Given the description of an element on the screen output the (x, y) to click on. 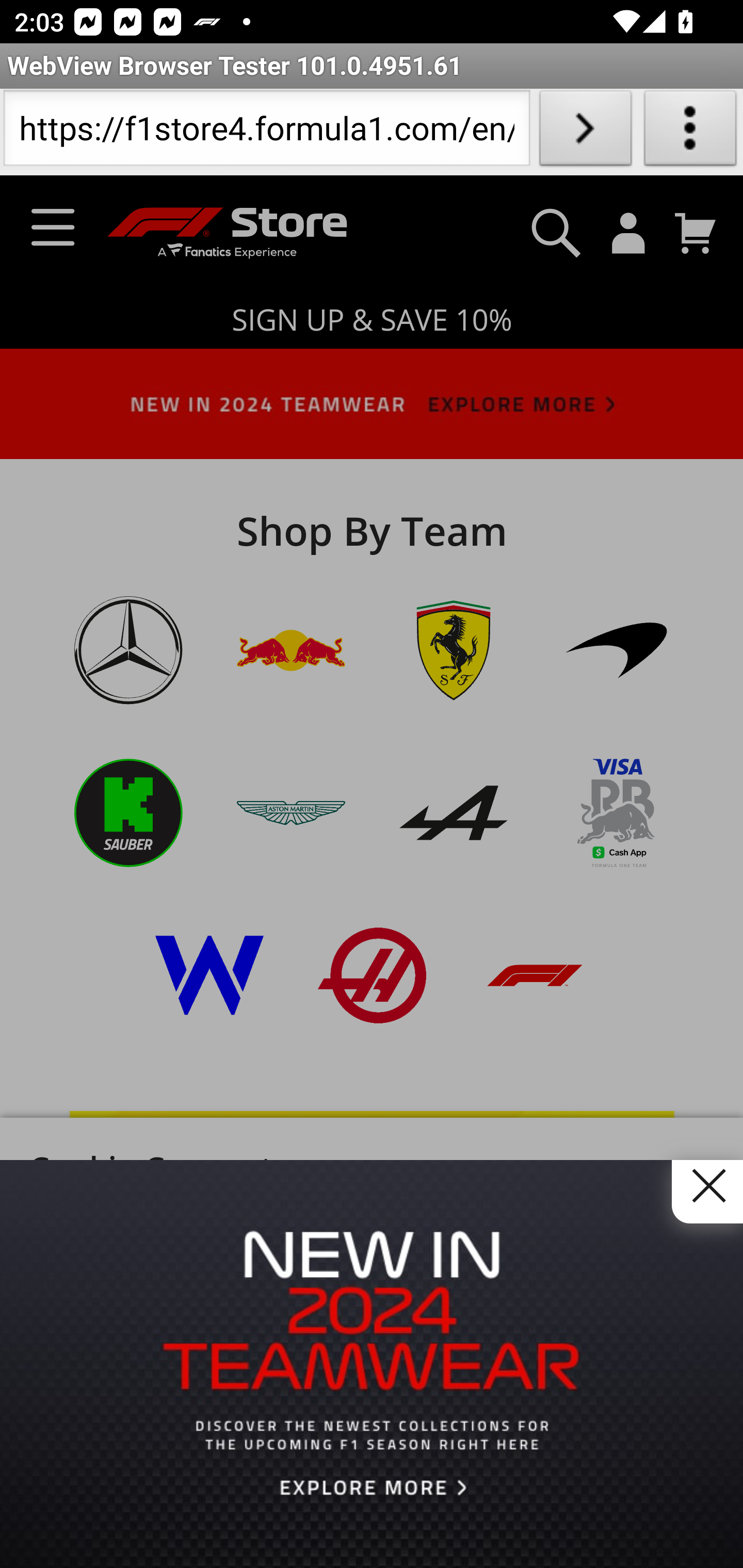
https://f1store4.formula1.com/en/ (266, 132)
Load URL (585, 132)
About WebView (690, 132)
NEW IN 2024 TEAMWEAR - SHOP NOW  (371, 1363)
 (707, 1191)
